Given the description of an element on the screen output the (x, y) to click on. 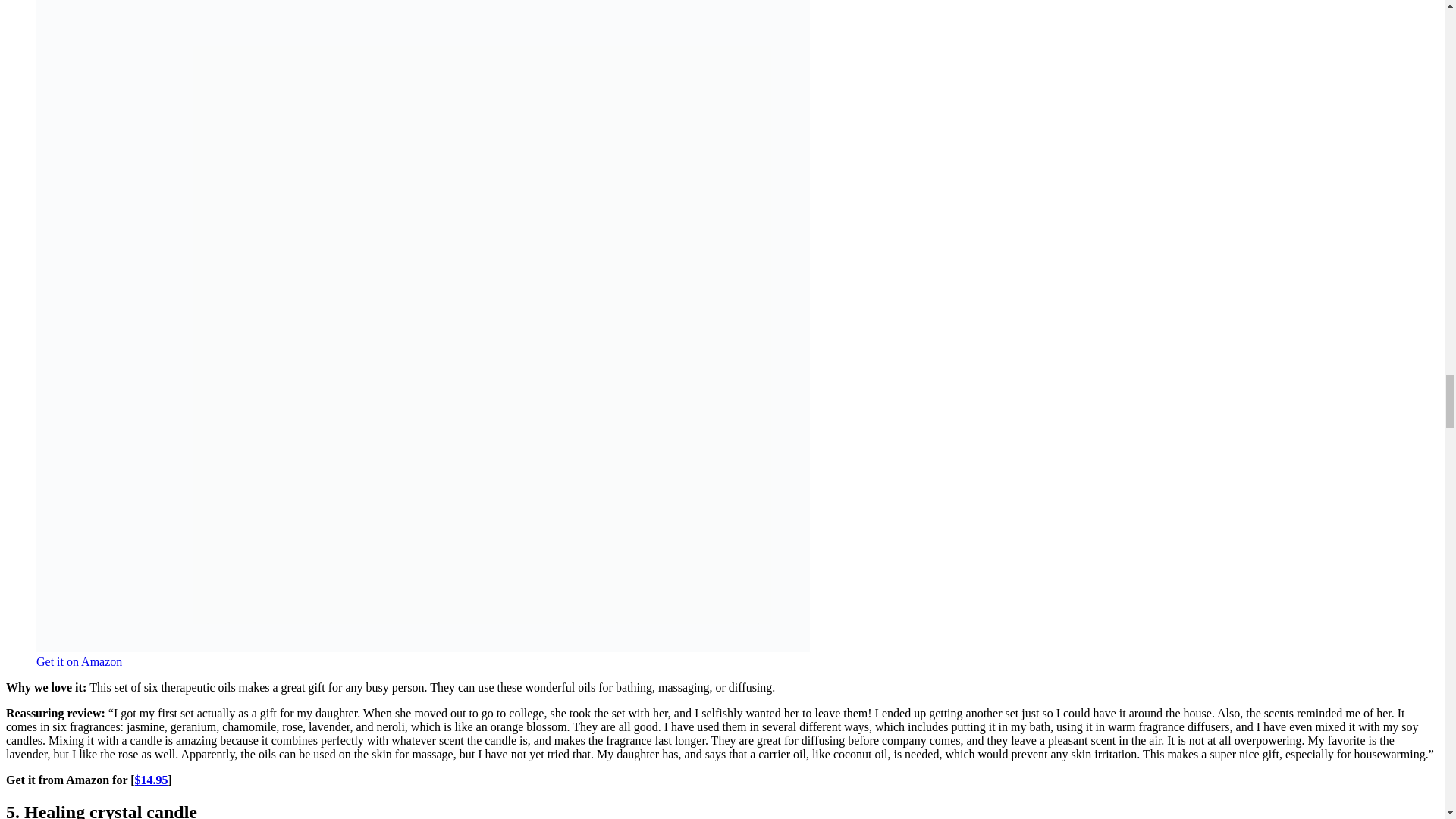
Get it on Amazon (79, 661)
